Given the description of an element on the screen output the (x, y) to click on. 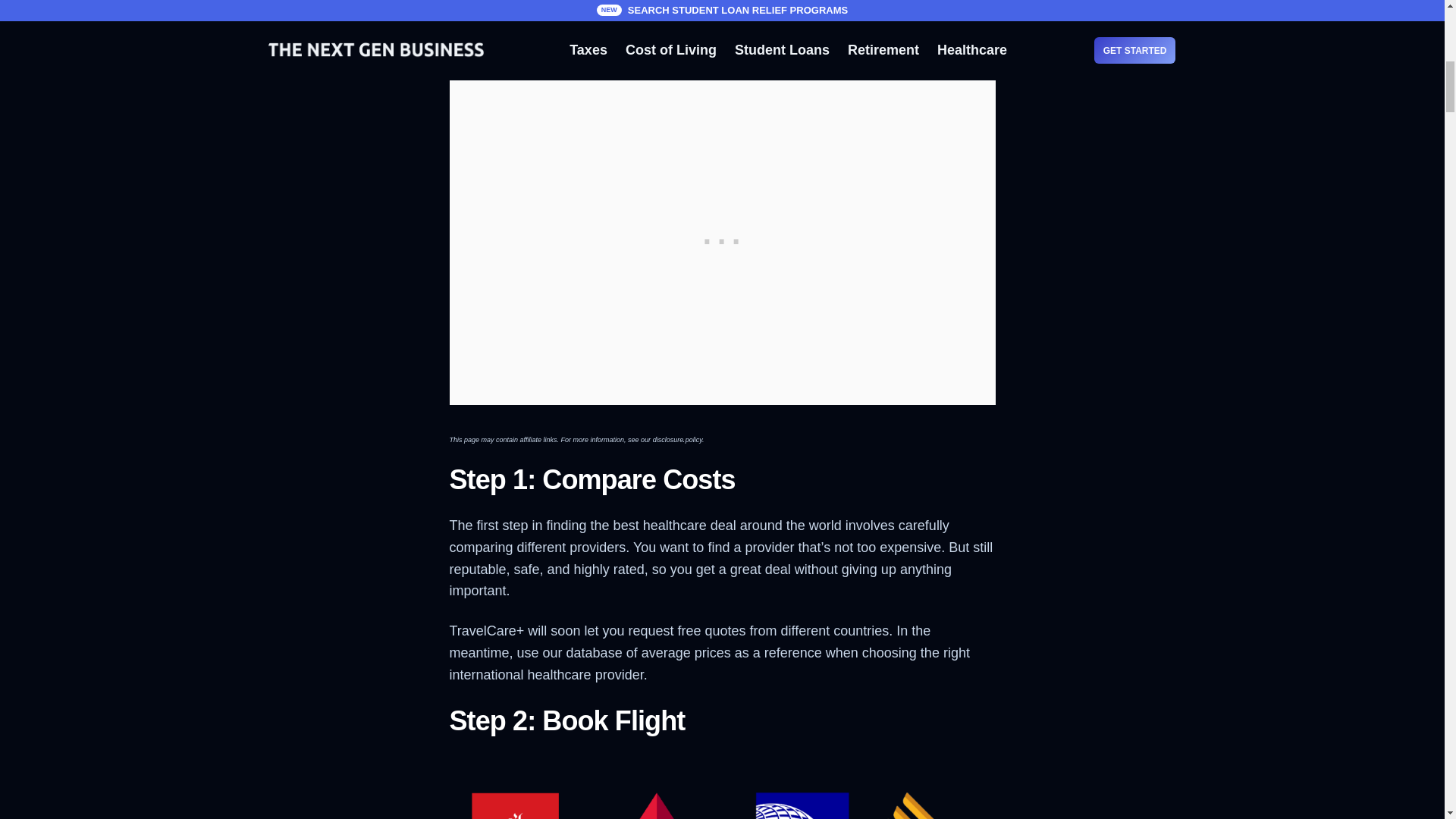
disclosure policy. (678, 433)
